Given the description of an element on the screen output the (x, y) to click on. 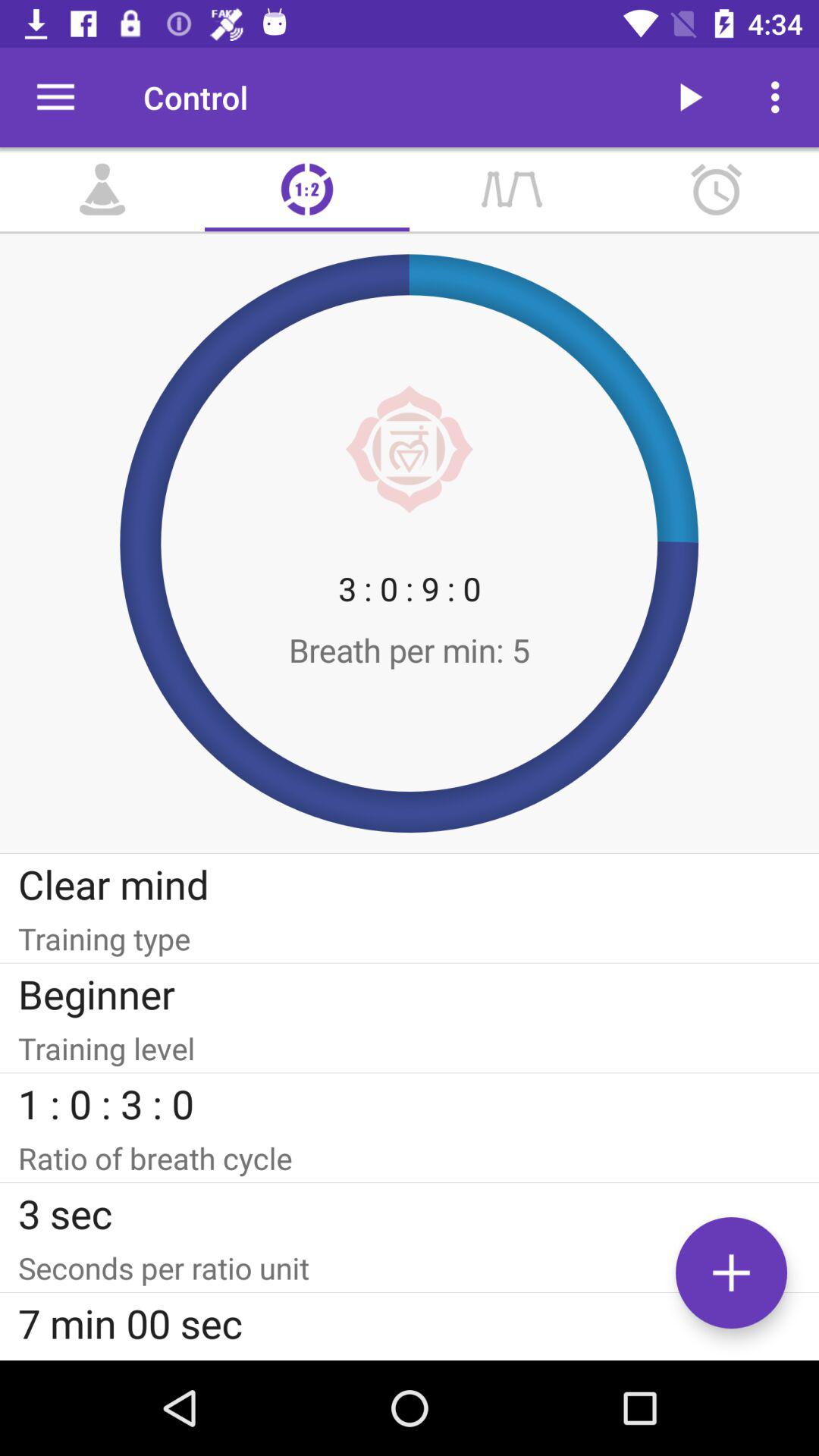
click the training type icon (409, 938)
